Given the description of an element on the screen output the (x, y) to click on. 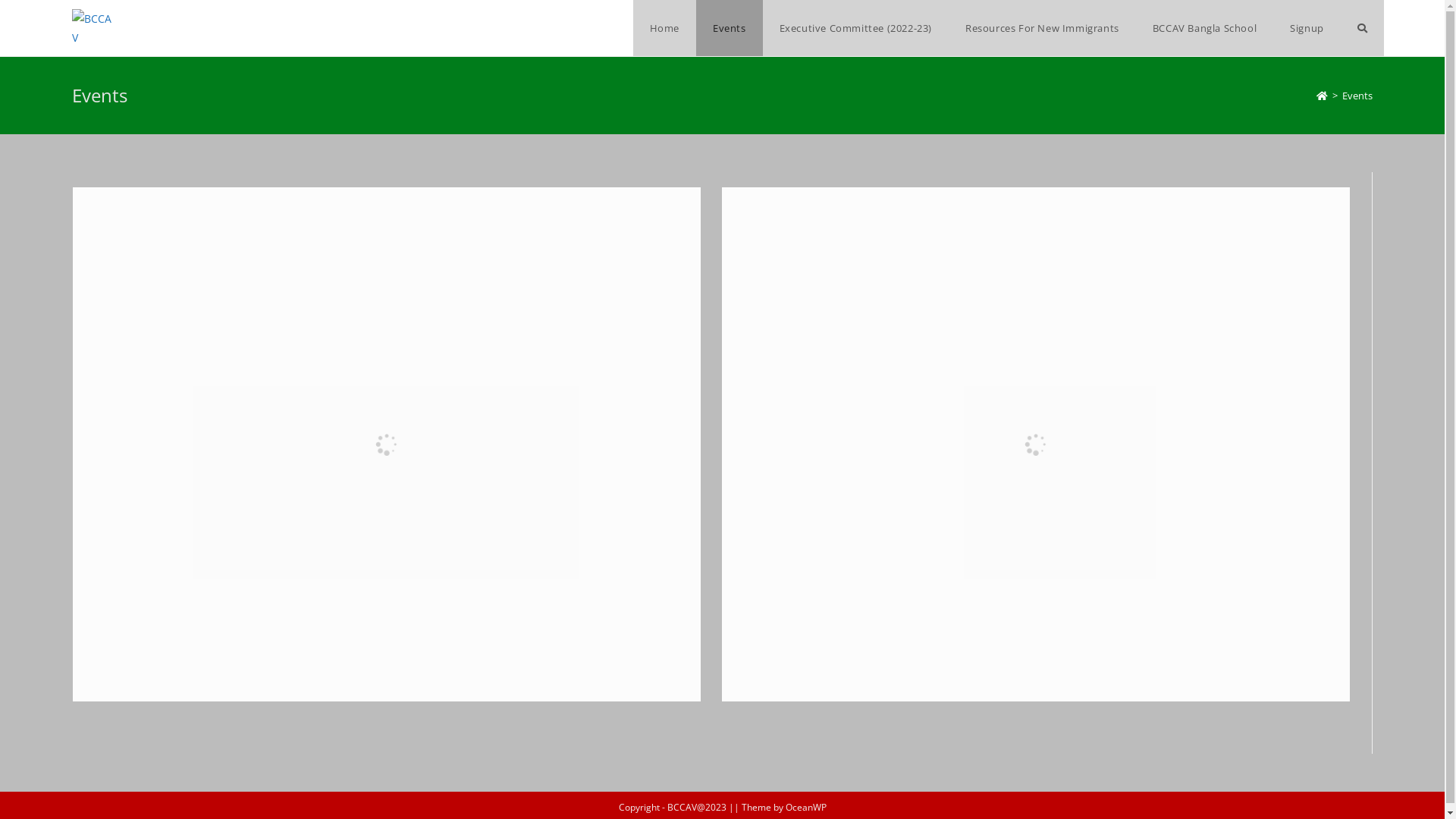
Events Element type: text (729, 28)
Home Element type: text (663, 28)
Events Element type: text (1357, 95)
Executive Committee (2022-23) Element type: text (855, 28)
Signup Element type: text (1306, 28)
Resources For New Immigrants Element type: text (1041, 28)
BCCAV Bangla School Element type: text (1204, 28)
